Given the description of an element on the screen output the (x, y) to click on. 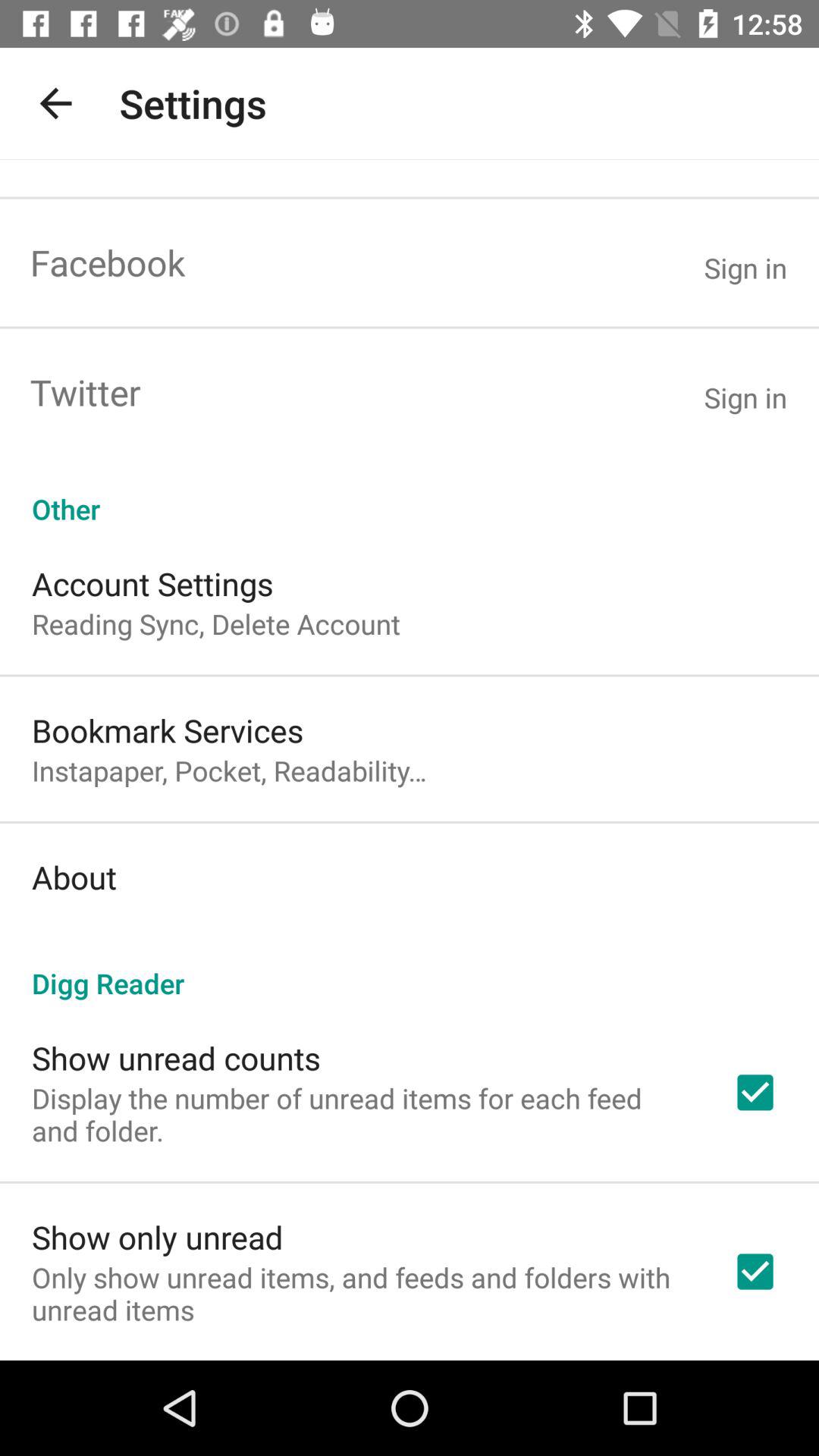
press the icon above show only unread app (361, 1114)
